Given the description of an element on the screen output the (x, y) to click on. 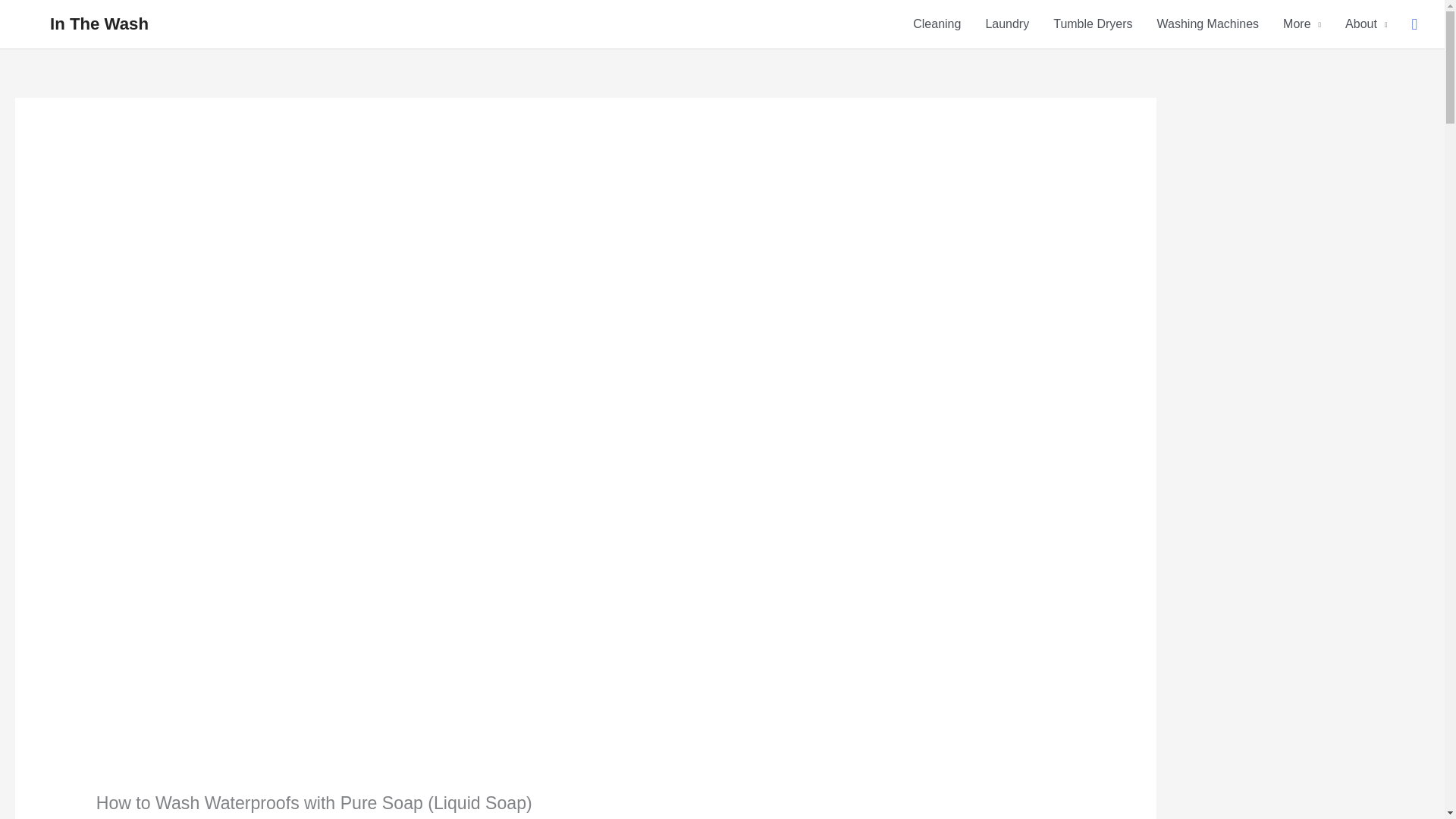
Laundry (1006, 24)
About (1366, 24)
Cleaning (936, 24)
In The Wash (98, 23)
Washing Machines (1207, 24)
More (1302, 24)
Tumble Dryers (1092, 24)
